Given the description of an element on the screen output the (x, y) to click on. 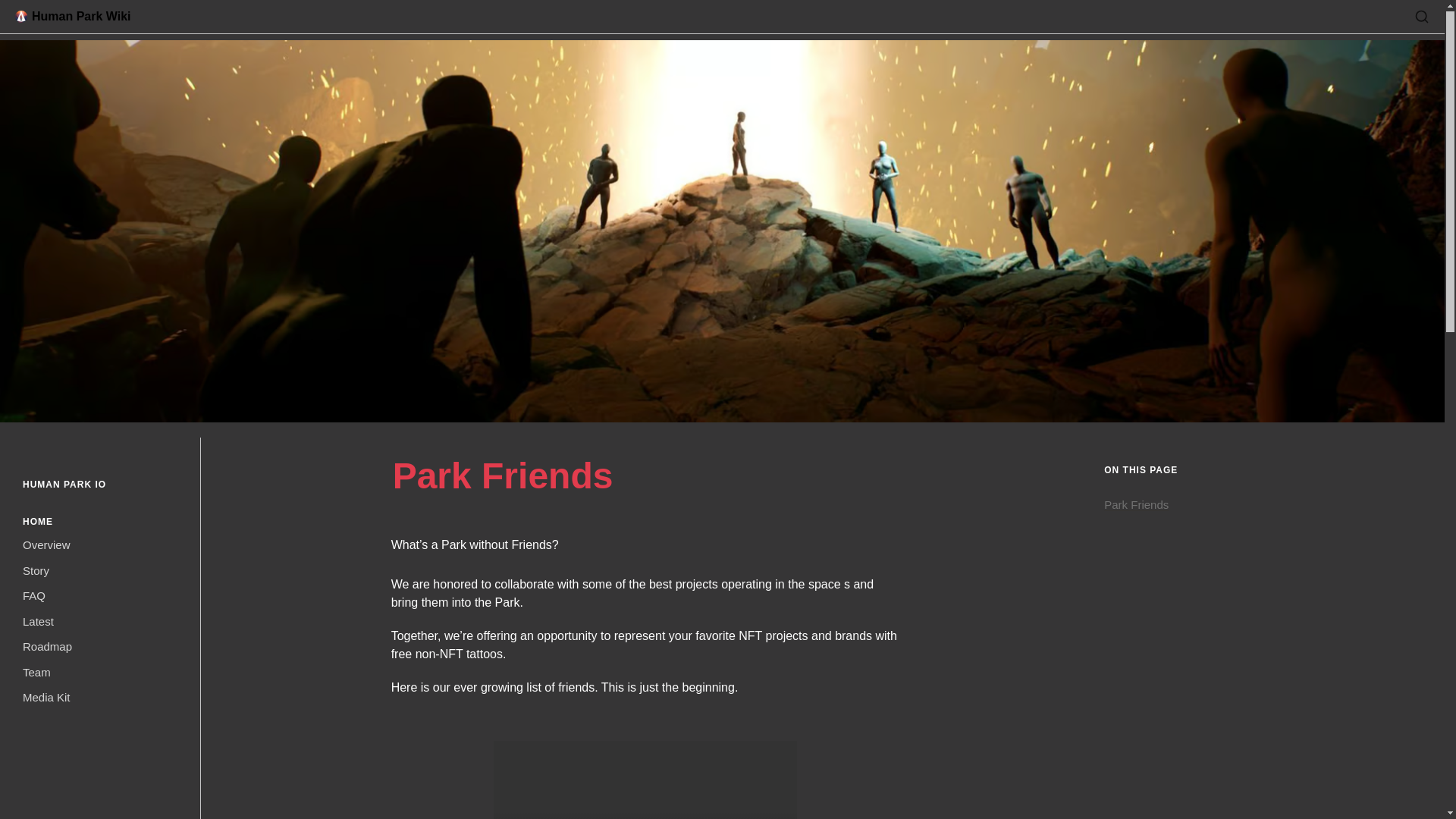
Team (100, 674)
Media Kit (100, 699)
Story (100, 573)
FAQ (100, 597)
HOME (37, 521)
Human Park Wiki (72, 16)
Roadmap (100, 648)
Park Friends (1262, 505)
Overview (100, 547)
Latest (100, 623)
